Given the description of an element on the screen output the (x, y) to click on. 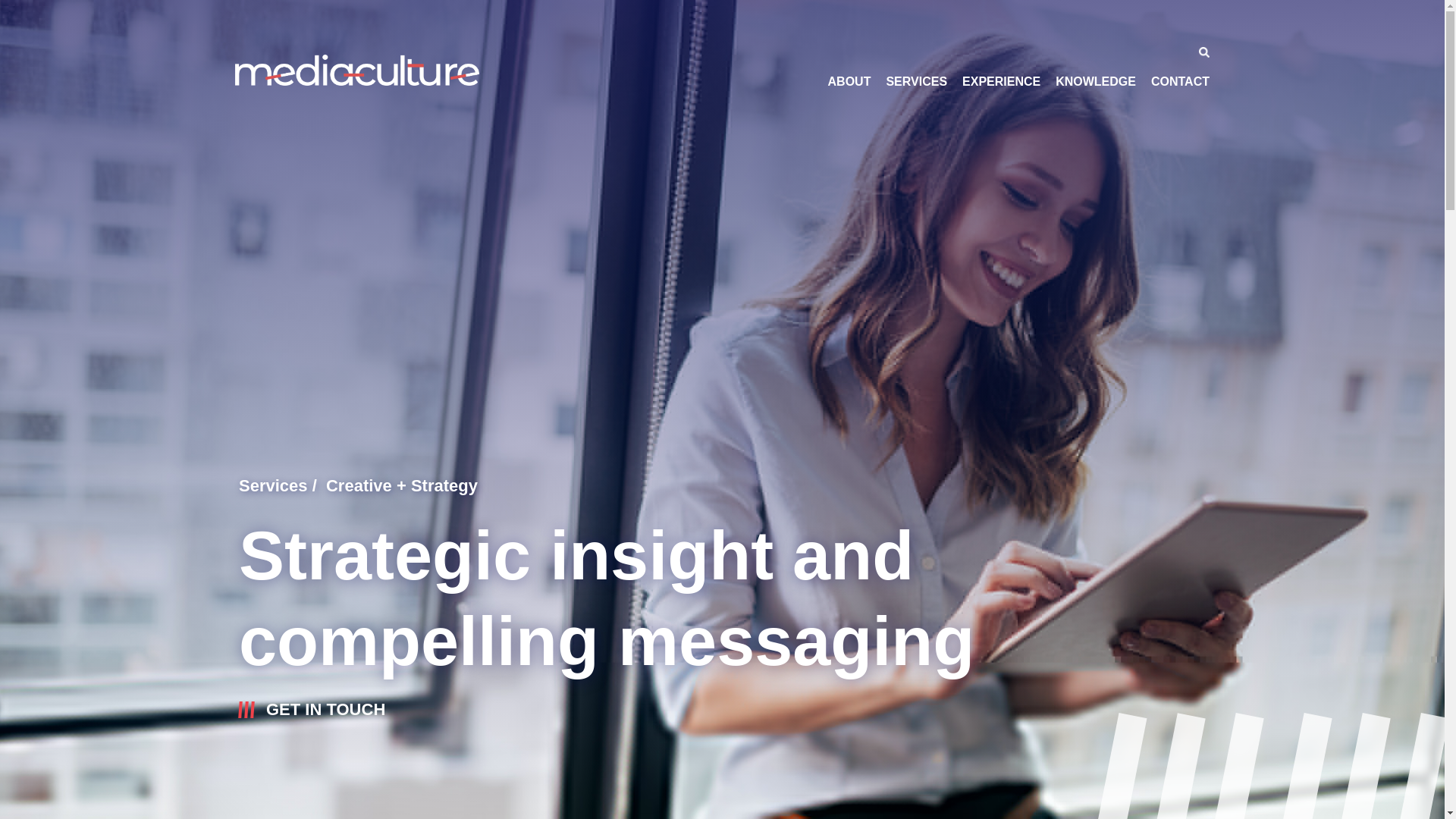
Media Culture Reversed Logo (356, 69)
EXPERIENCE (1001, 81)
SERVICES (916, 81)
CONTACT (1180, 81)
Services (272, 485)
KNOWLEDGE (1095, 81)
ABOUT (849, 81)
GET IN TOUCH (325, 709)
